Given the description of an element on the screen output the (x, y) to click on. 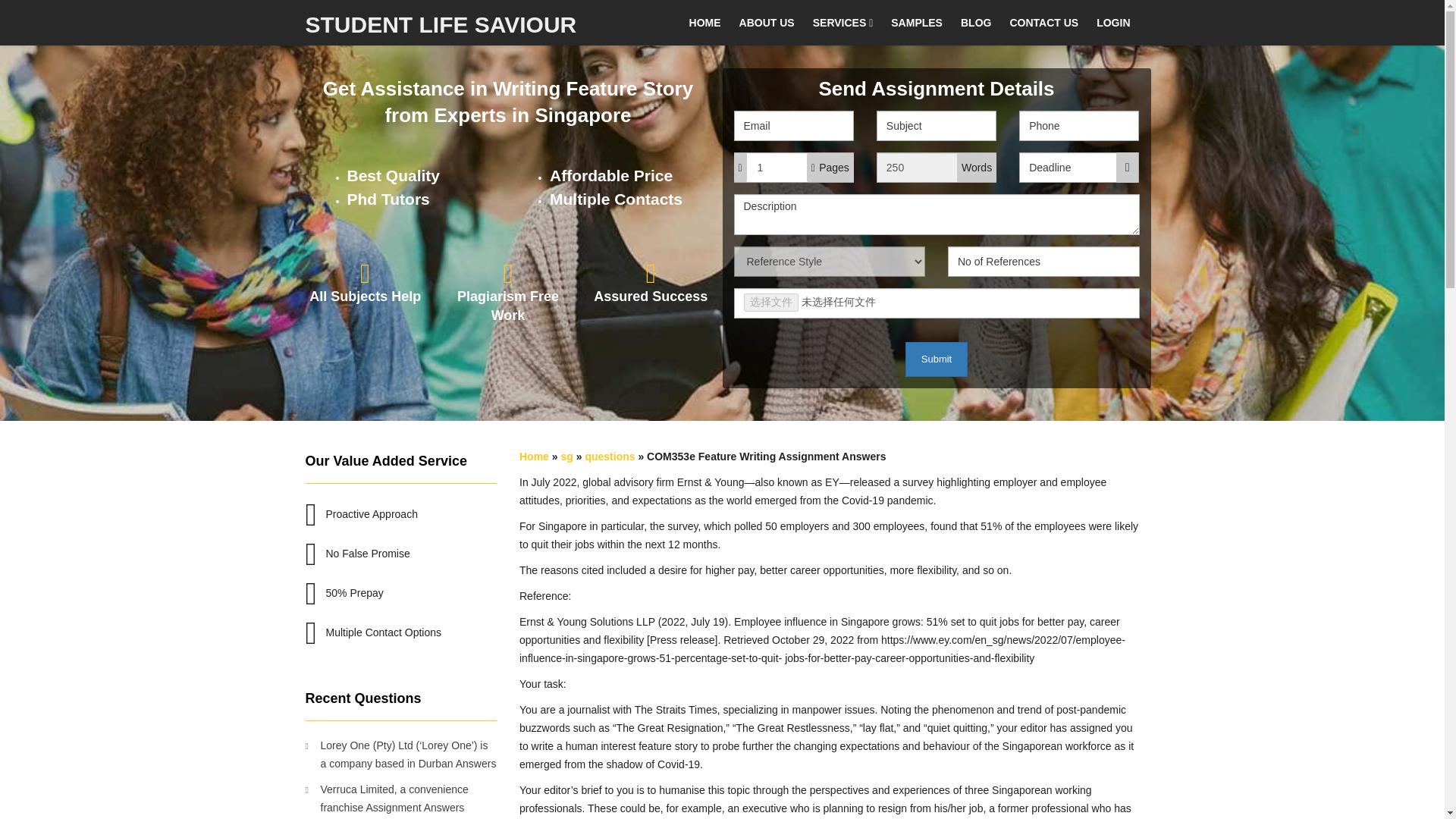
250 (935, 167)
Home (533, 456)
1 (793, 167)
ABOUT US (766, 22)
Submit (936, 359)
questions (609, 456)
sg (566, 456)
CONTACT US (1043, 22)
LOGIN (1112, 22)
SERVICES (842, 22)
